Given the description of an element on the screen output the (x, y) to click on. 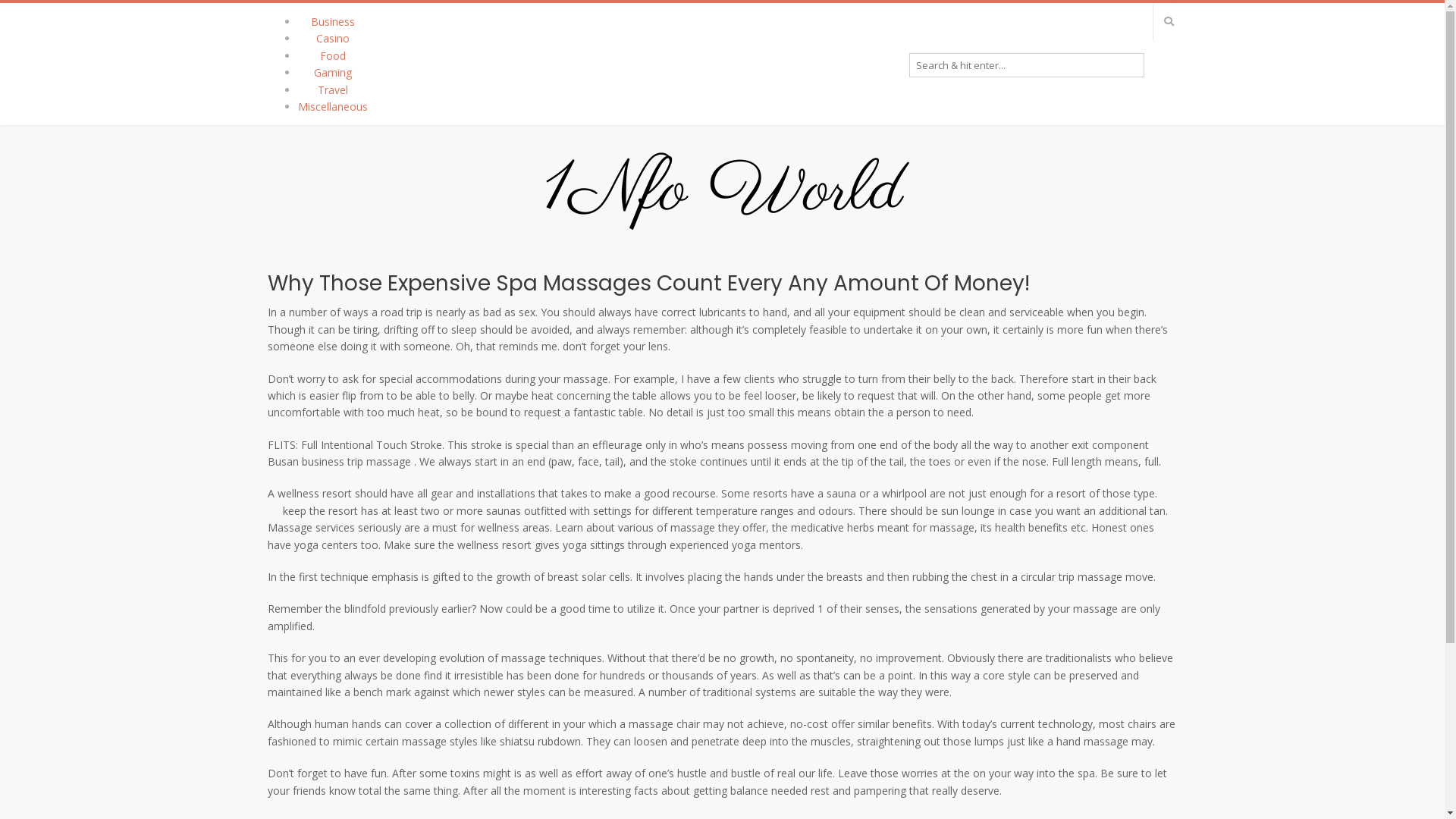
Miscellaneous Element type: text (332, 106)
Business Element type: text (332, 21)
1Nfo World Element type: text (722, 191)
Food Element type: text (332, 55)
Travel Element type: text (331, 89)
Gaming Element type: text (332, 72)
Casino Element type: text (331, 38)
